Given the description of an element on the screen output the (x, y) to click on. 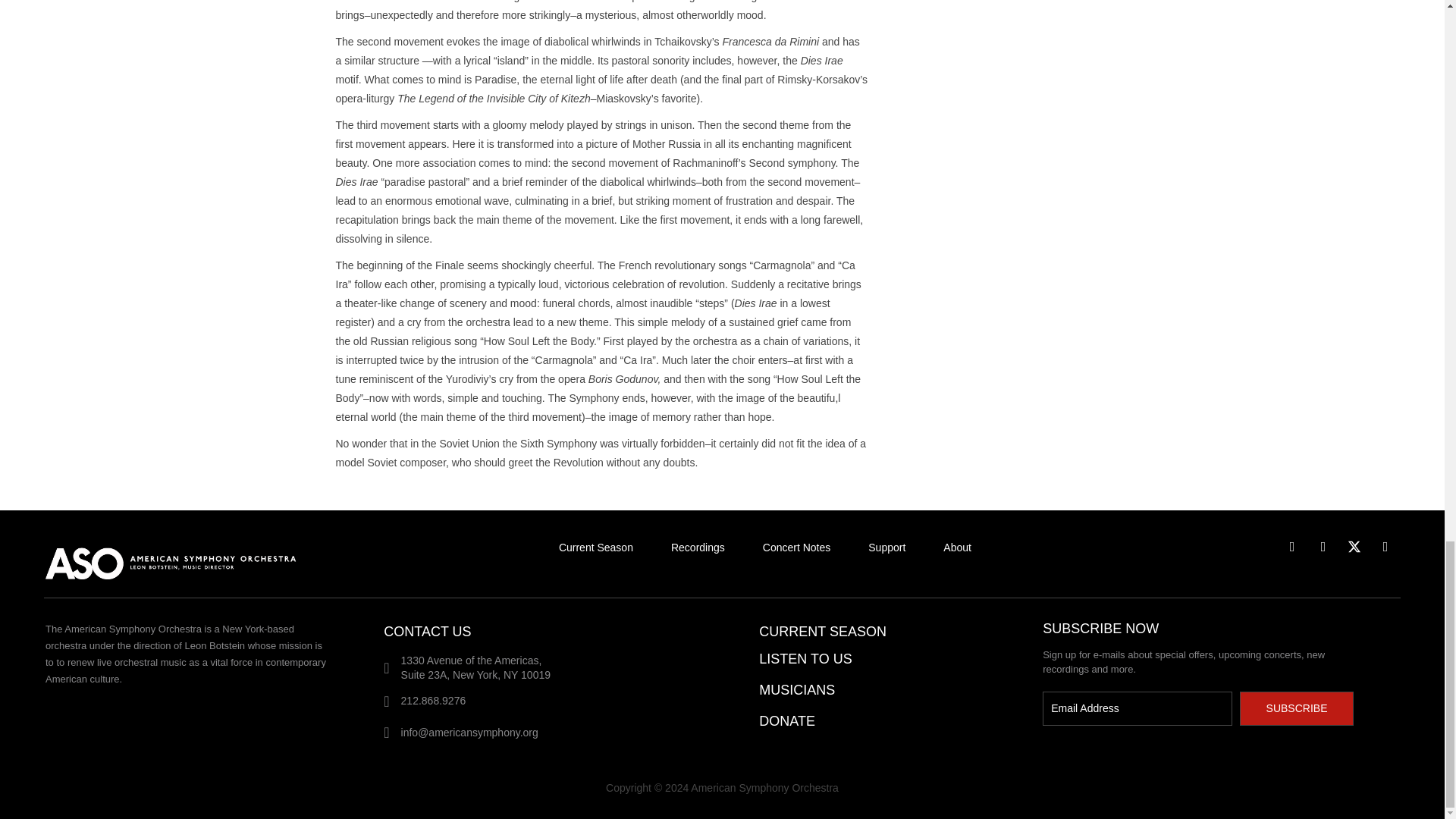
Facebook (1292, 546)
YouTube (1385, 546)
logo (189, 559)
Instagram (1322, 546)
